Given the description of an element on the screen output the (x, y) to click on. 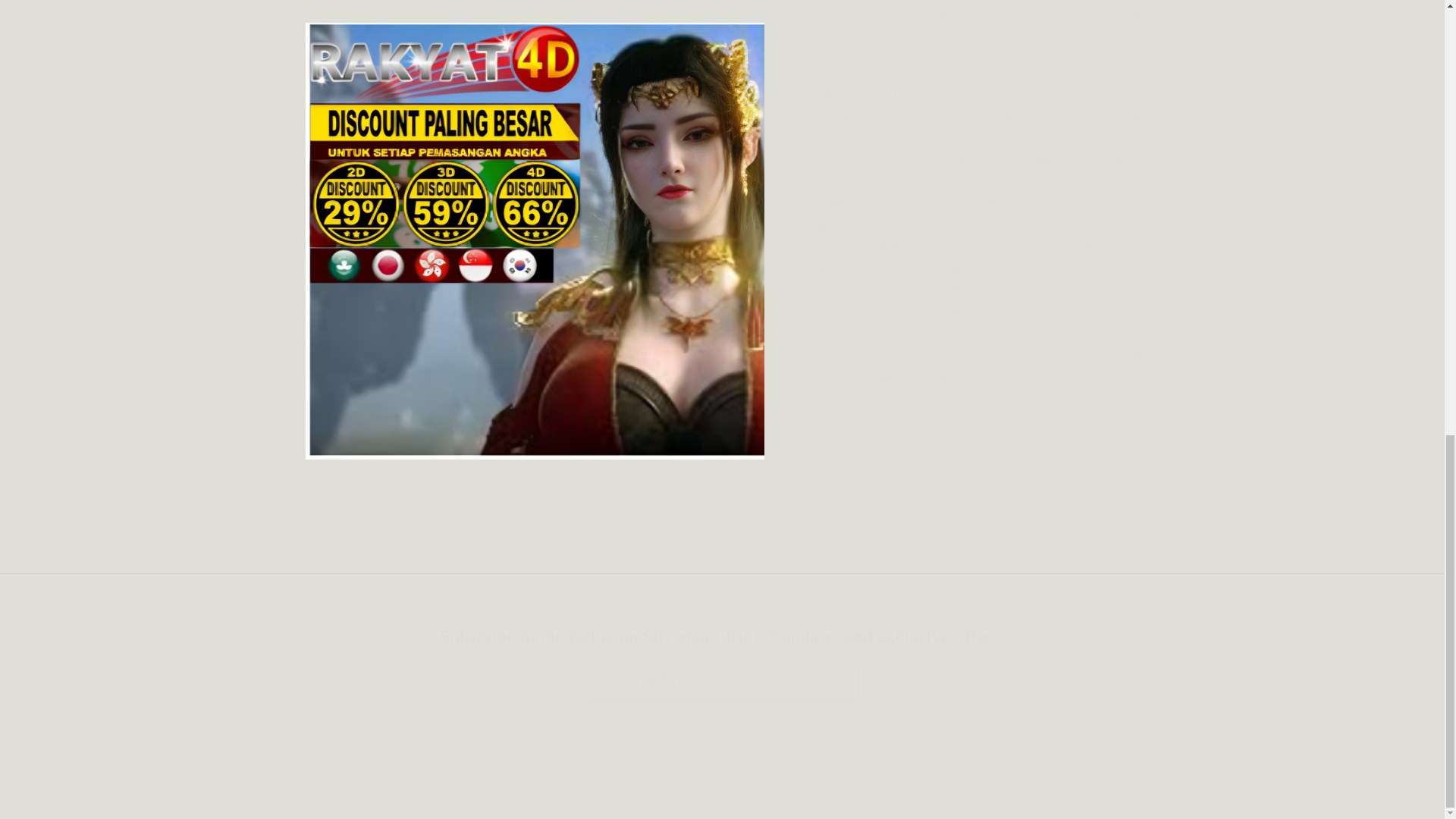
Sold out (968, 488)
Powered by Keluaran Sdy (801, 789)
1 (856, 434)
Pengeluaran sdy (851, 60)
